Given the description of an element on the screen output the (x, y) to click on. 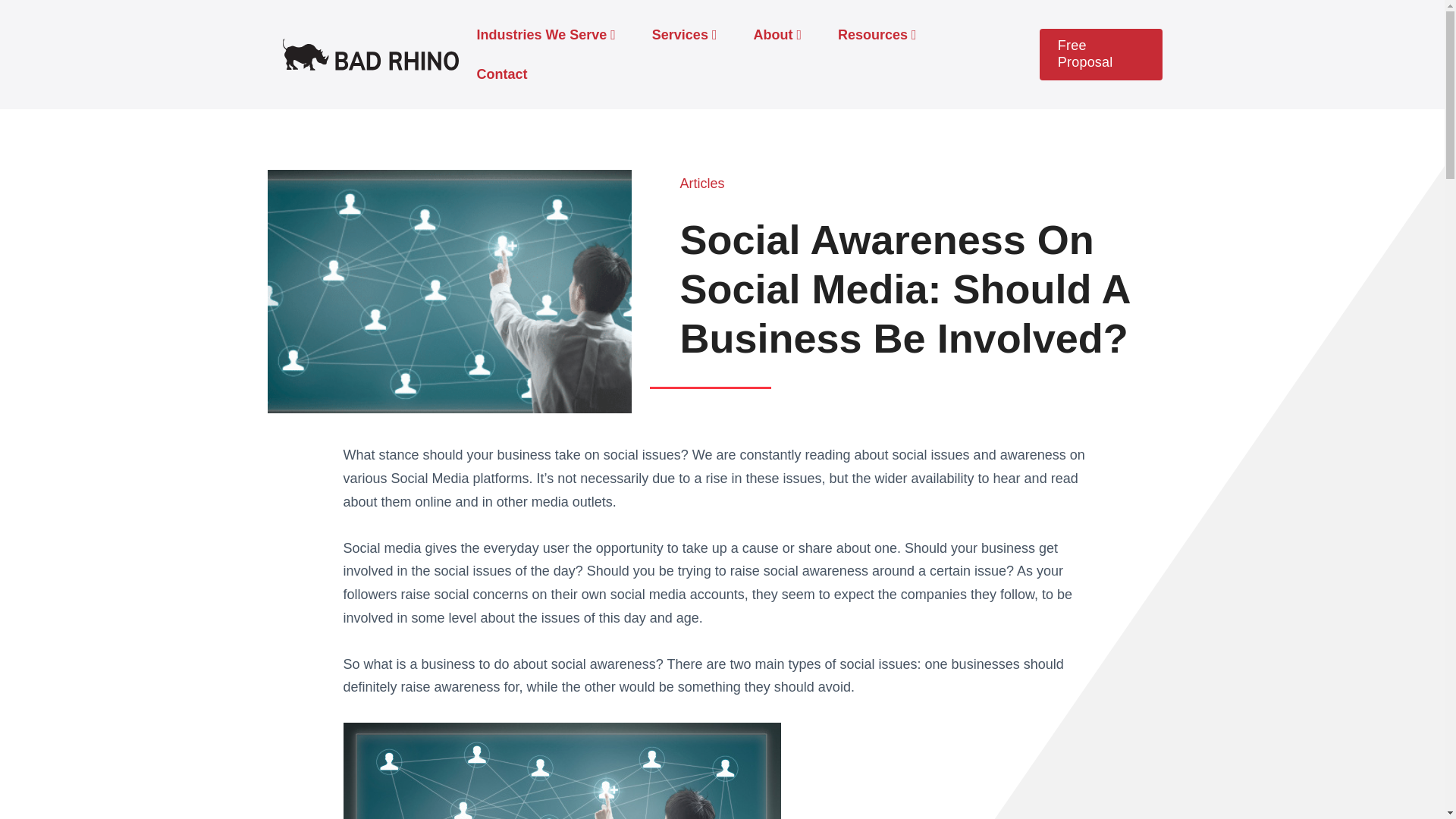
About (777, 34)
Industries We Serve (545, 34)
Services (684, 34)
Contact (501, 74)
Resources (876, 34)
Free Proposal (1100, 53)
Bad Rhino (370, 54)
